Given the description of an element on the screen output the (x, y) to click on. 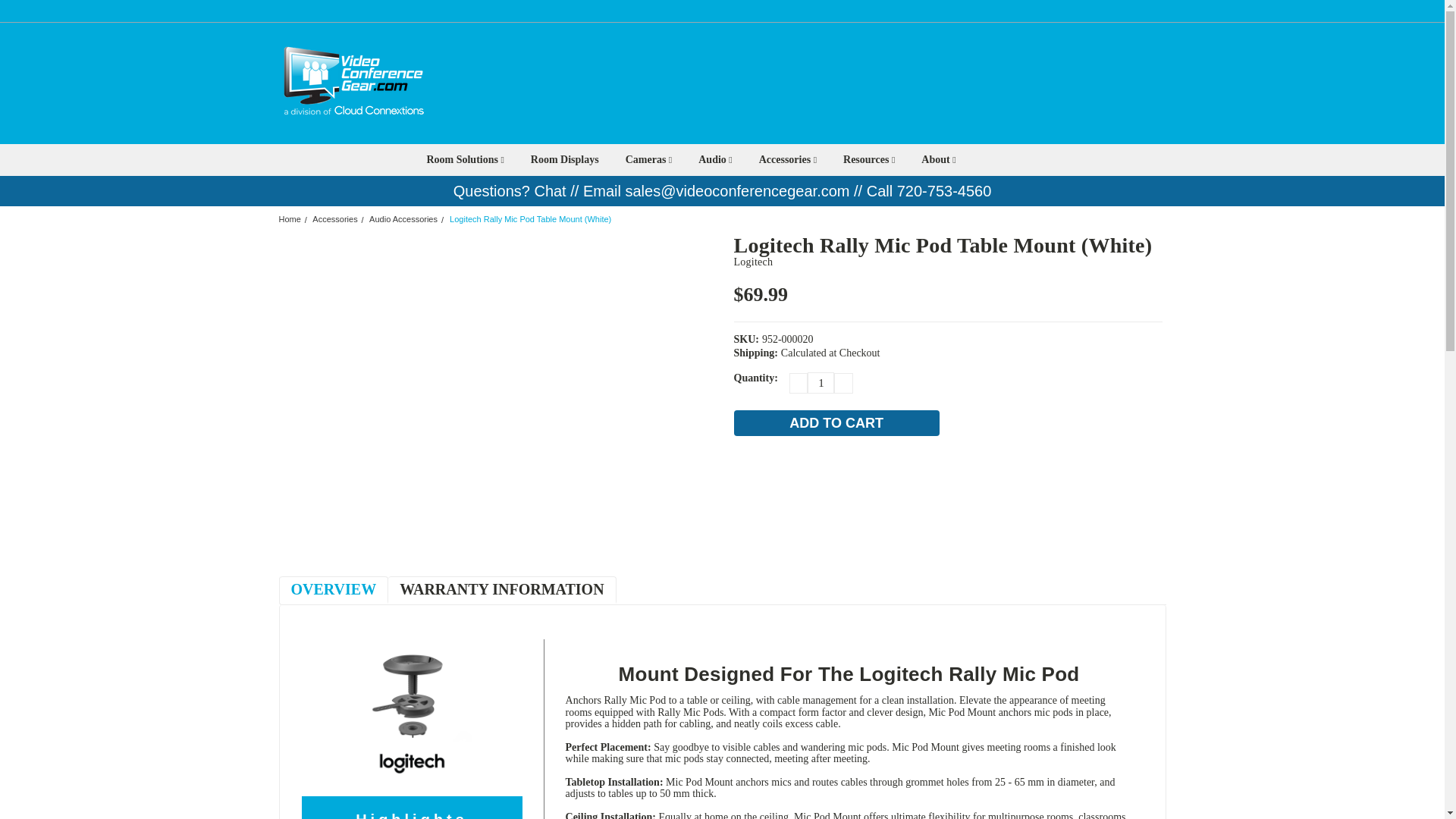
Video Conference Gear Division of Cloud Connextions (351, 83)
Logitech Rally Mic Pod Mount (411, 708)
1 (821, 382)
Add to Cart (836, 422)
